Given the description of an element on the screen output the (x, y) to click on. 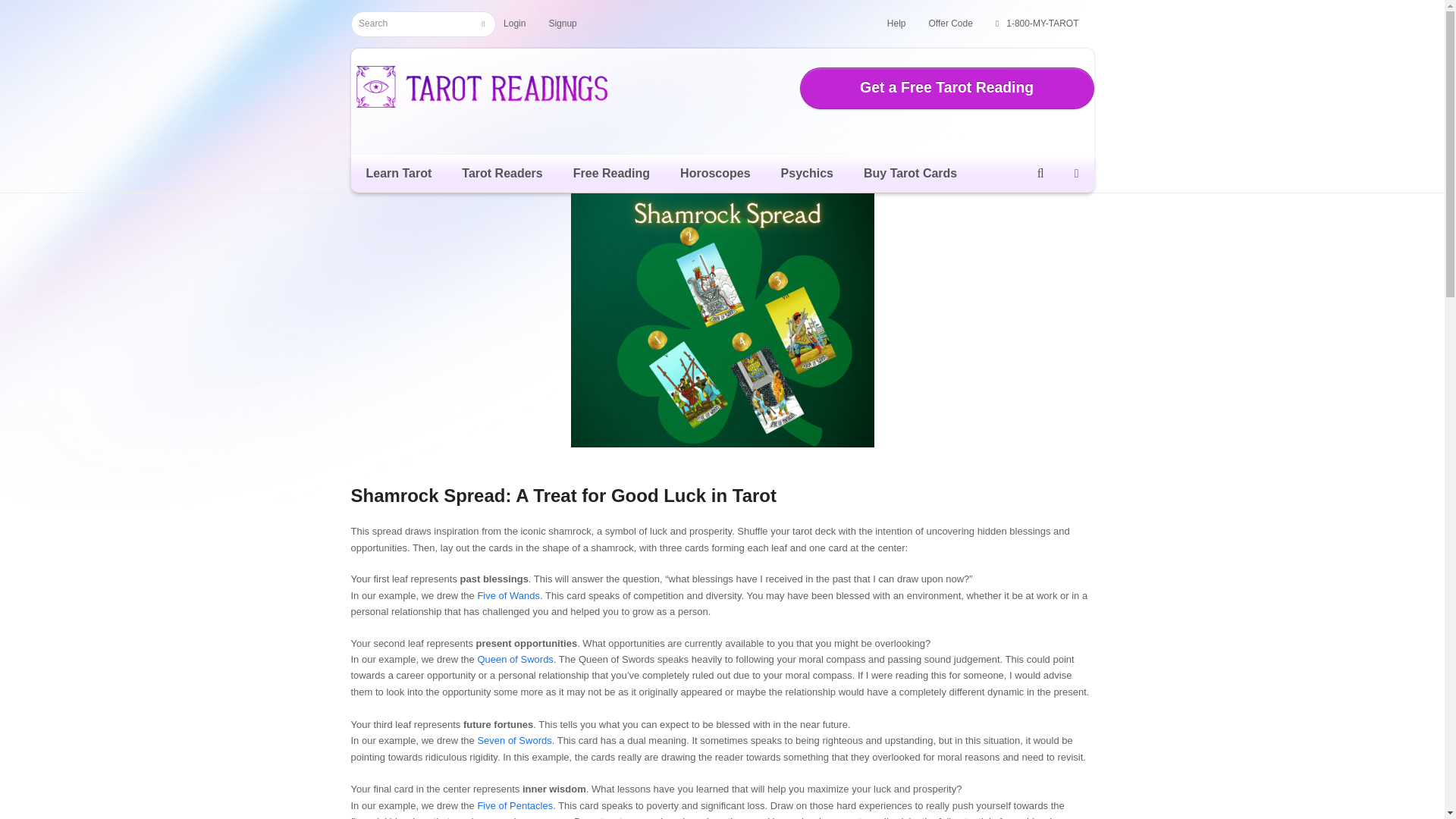
Offer Code (950, 23)
Five of Wands (508, 595)
Seven of Swords (514, 740)
Free Reading (611, 173)
Horoscopes (715, 173)
Five of Pentacles (515, 805)
Queen of Swords (515, 659)
Tarot Readers (501, 173)
Five of Wands (508, 595)
Help (895, 23)
